Given the description of an element on the screen output the (x, y) to click on. 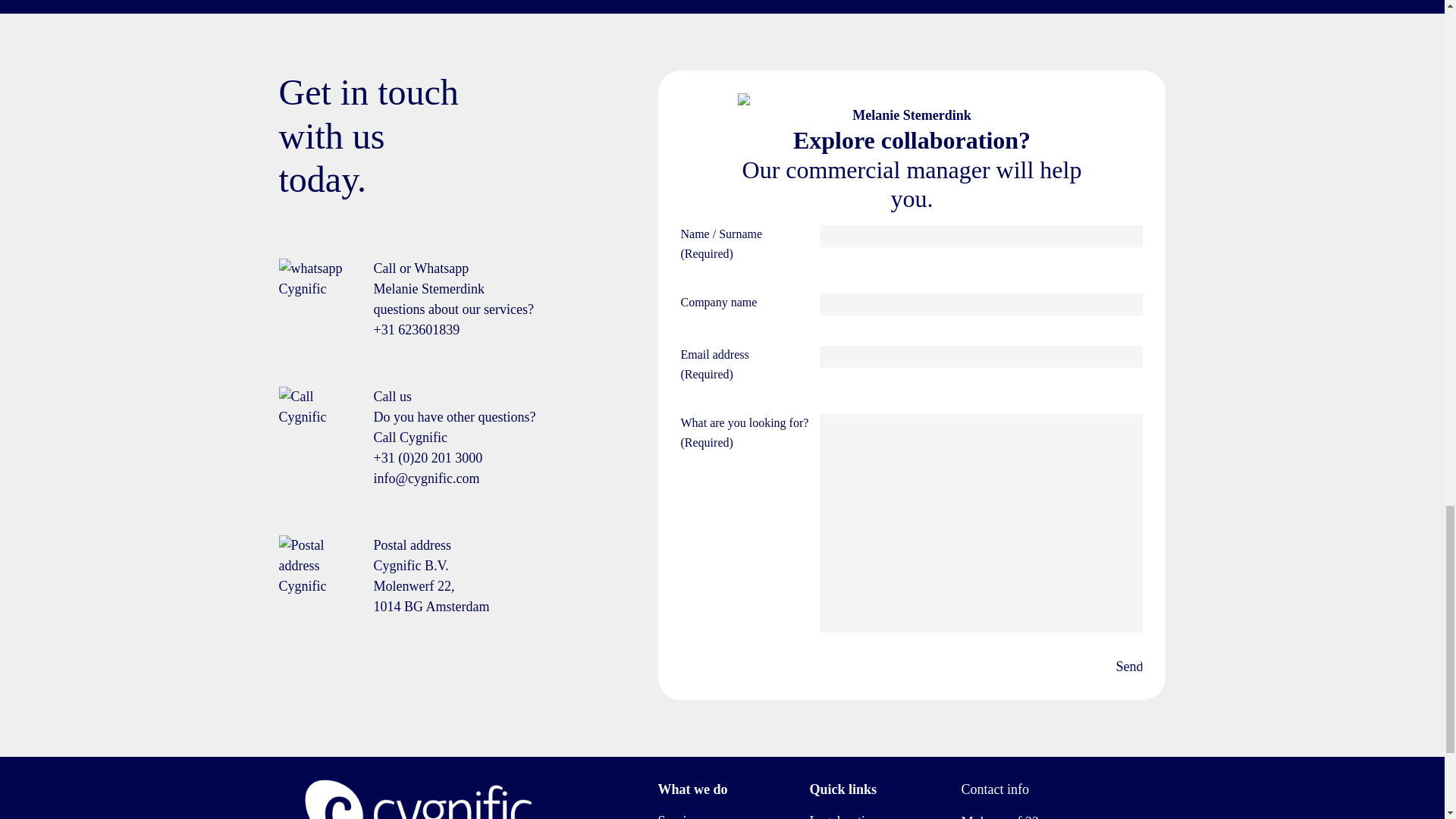
Send (1128, 666)
Send (1128, 666)
Services (680, 816)
Legal notice (842, 816)
